Given the description of an element on the screen output the (x, y) to click on. 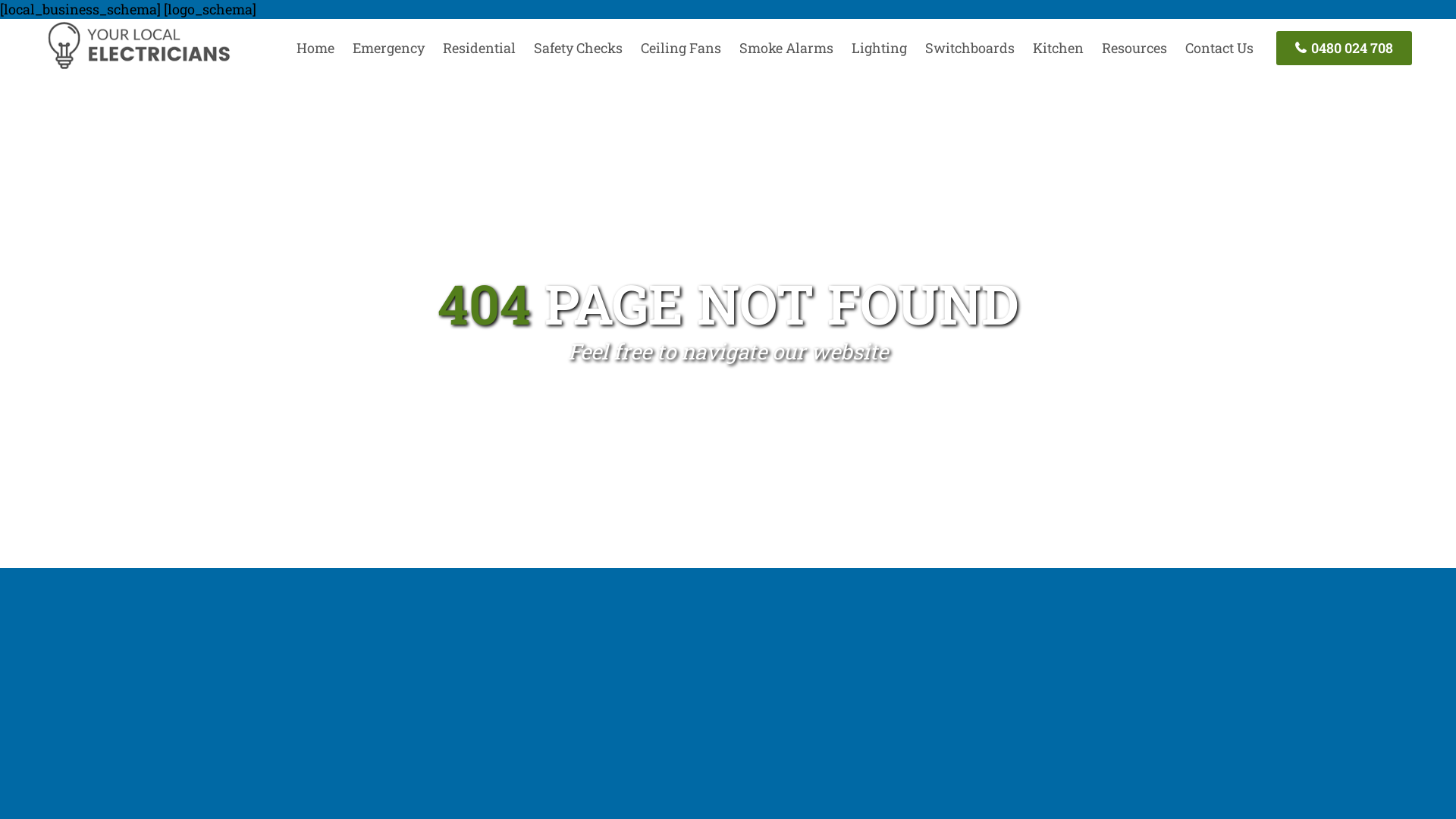
Contact Us Element type: text (1219, 47)
Residential Element type: text (479, 47)
Smoke Alarms Element type: text (785, 47)
Resources Element type: text (1134, 47)
Safety Checks Element type: text (578, 47)
Electricians Element type: hover (137, 66)
Kitchen Element type: text (1058, 47)
Lighting Element type: text (879, 47)
0480 024 708 Element type: text (1344, 48)
Switchboards Element type: text (969, 47)
Home Element type: text (315, 47)
Ceiling Fans Element type: text (680, 47)
Emergency Element type: text (388, 47)
